Given the description of an element on the screen output the (x, y) to click on. 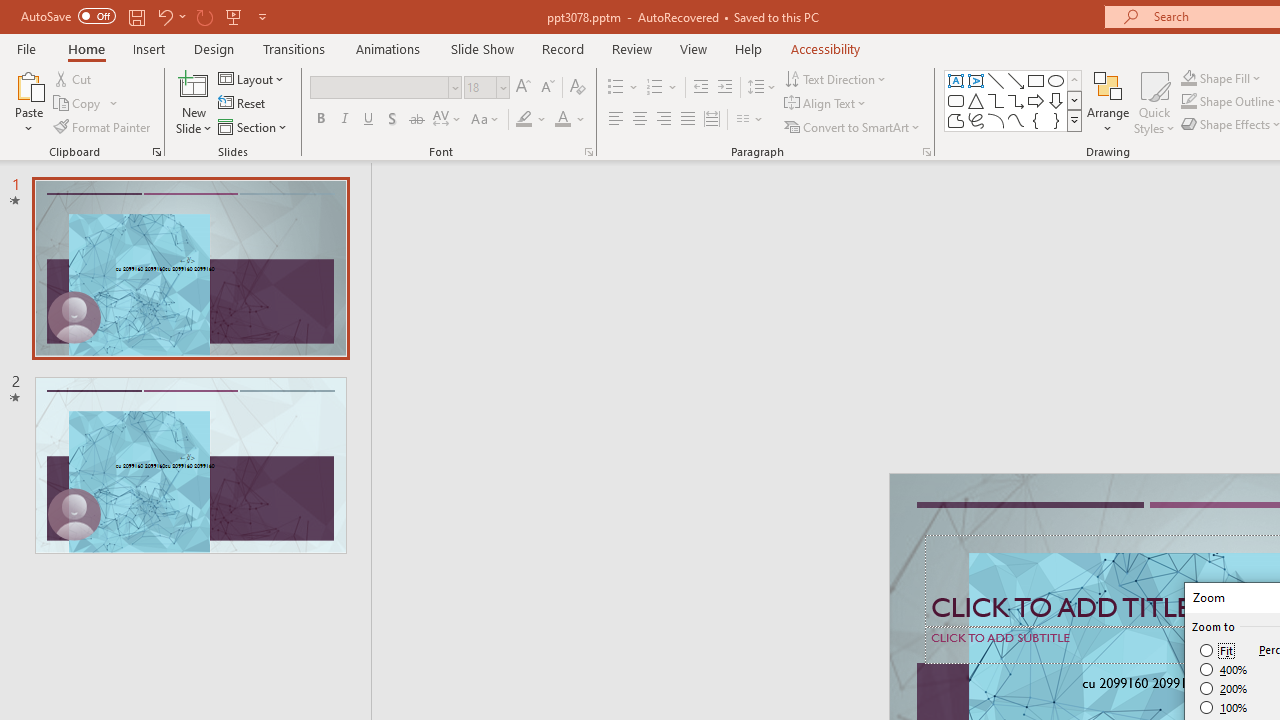
200% (1224, 688)
